Given the description of an element on the screen output the (x, y) to click on. 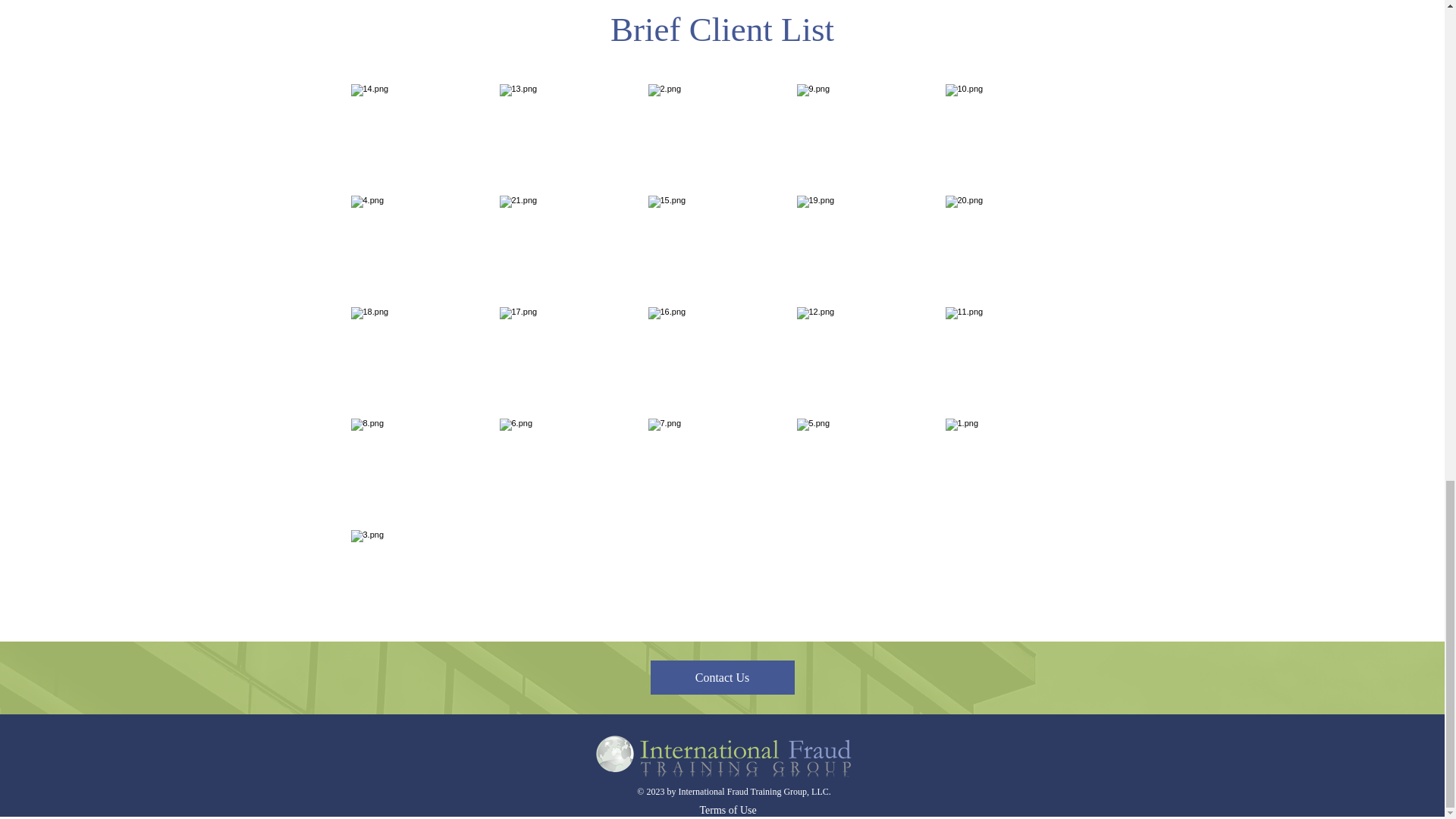
Contact Us (722, 677)
Terms of Use (752, 810)
